Given the description of an element on the screen output the (x, y) to click on. 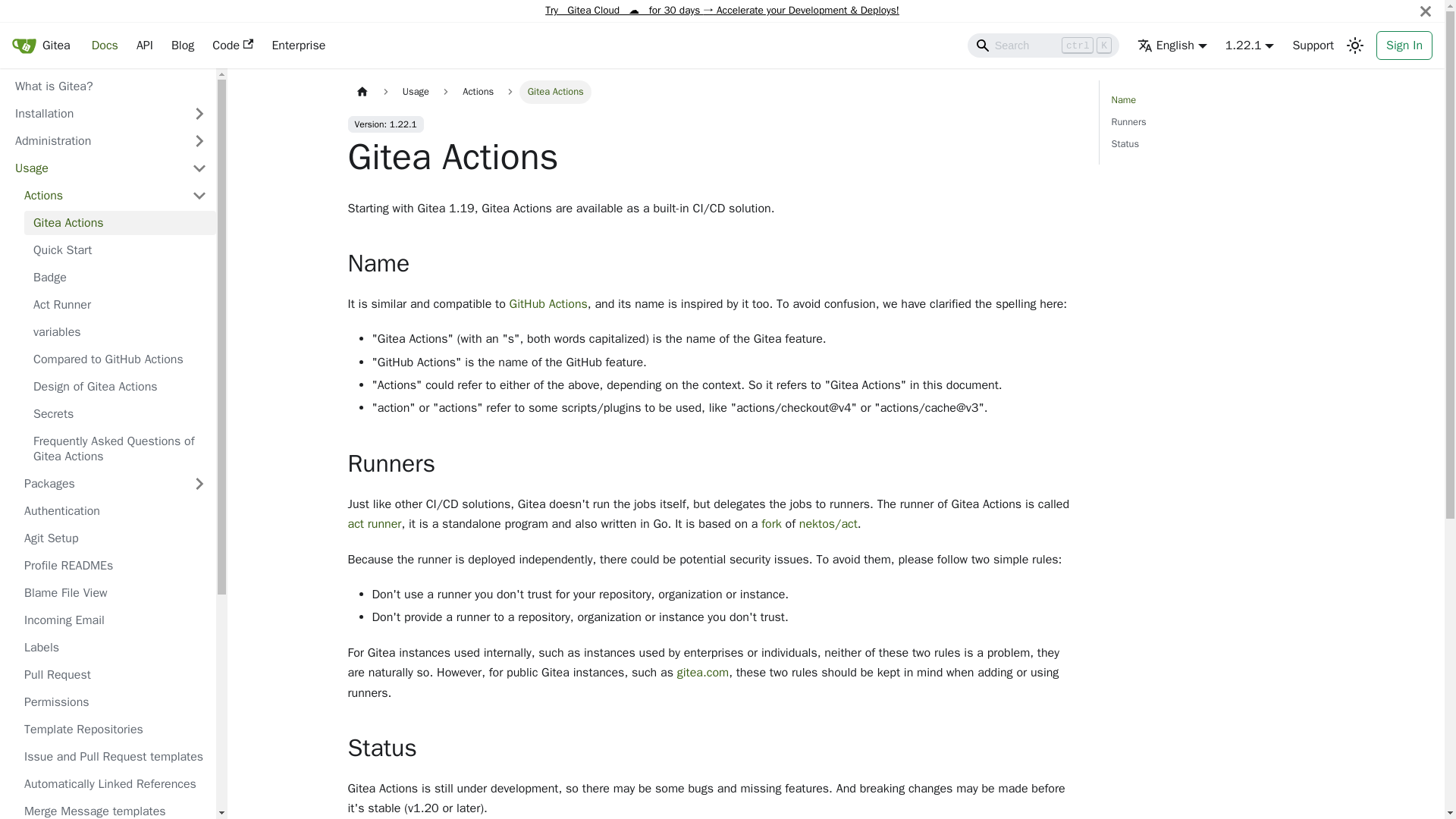
Installation (94, 113)
Usage (94, 168)
Gitea Actions (119, 222)
Code (232, 45)
What is Gitea? (110, 86)
API (144, 45)
Quick Start (119, 250)
Actions (114, 195)
English (1172, 45)
Docs (1210, 122)
Gitea (105, 45)
Blog (40, 45)
Support (182, 45)
1.22.1 (1312, 45)
